Given the description of an element on the screen output the (x, y) to click on. 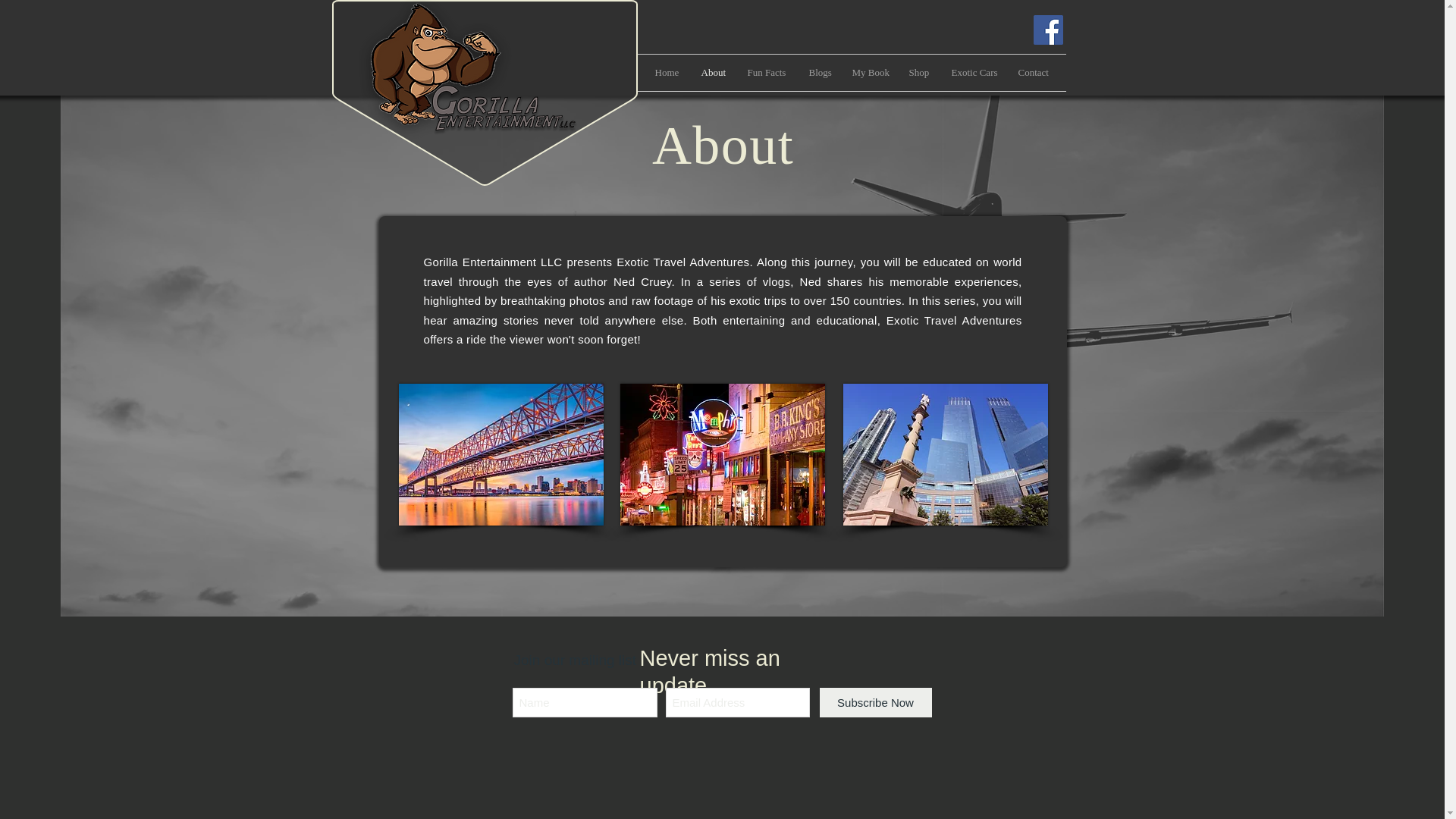
Fun Facts (765, 72)
My Book (868, 72)
Home (665, 72)
Subscribe Now (874, 702)
Blogs (819, 72)
Exotic Cars (973, 72)
About (713, 72)
Contact (1033, 72)
Shop (919, 72)
